Given the description of an element on the screen output the (x, y) to click on. 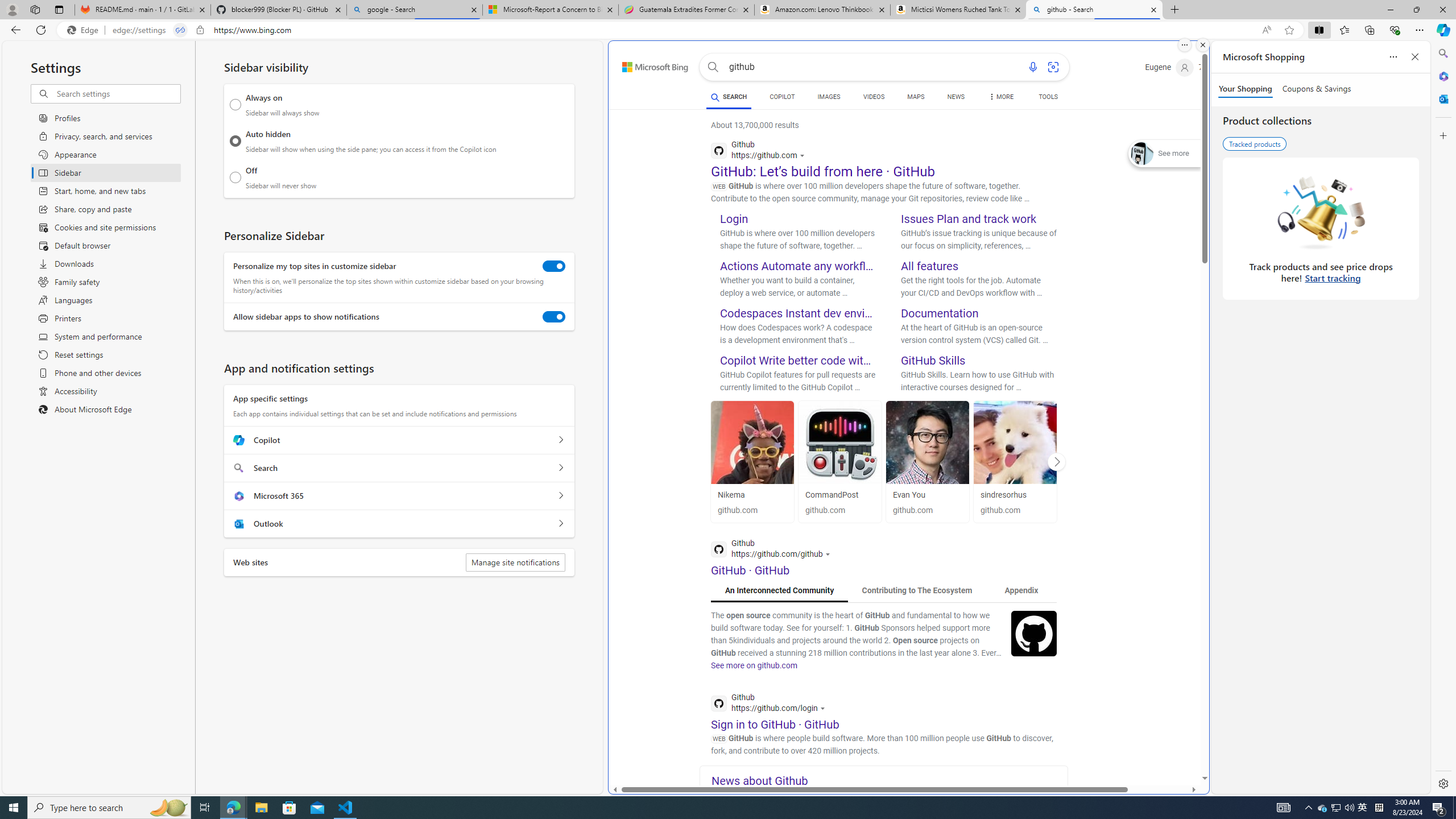
See more on github.com (753, 665)
Search more (1179, 744)
Close split screen. (1202, 45)
GitHub Skills (933, 359)
Evan You Evan You github.com (927, 461)
sindresorhus (1014, 494)
News about Github (889, 780)
